Given the description of an element on the screen output the (x, y) to click on. 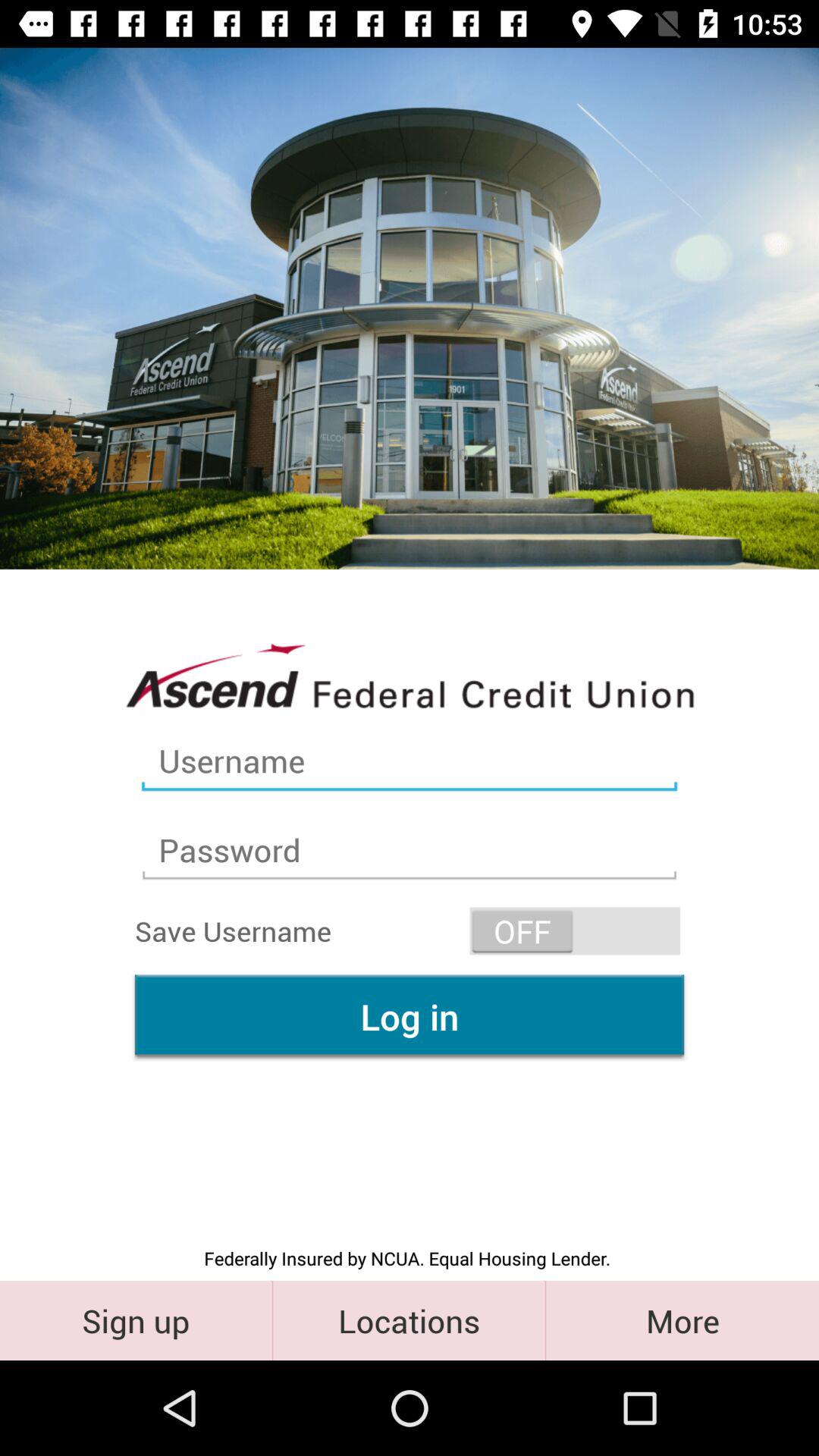
click more at the bottom right corner (682, 1320)
